Given the description of an element on the screen output the (x, y) to click on. 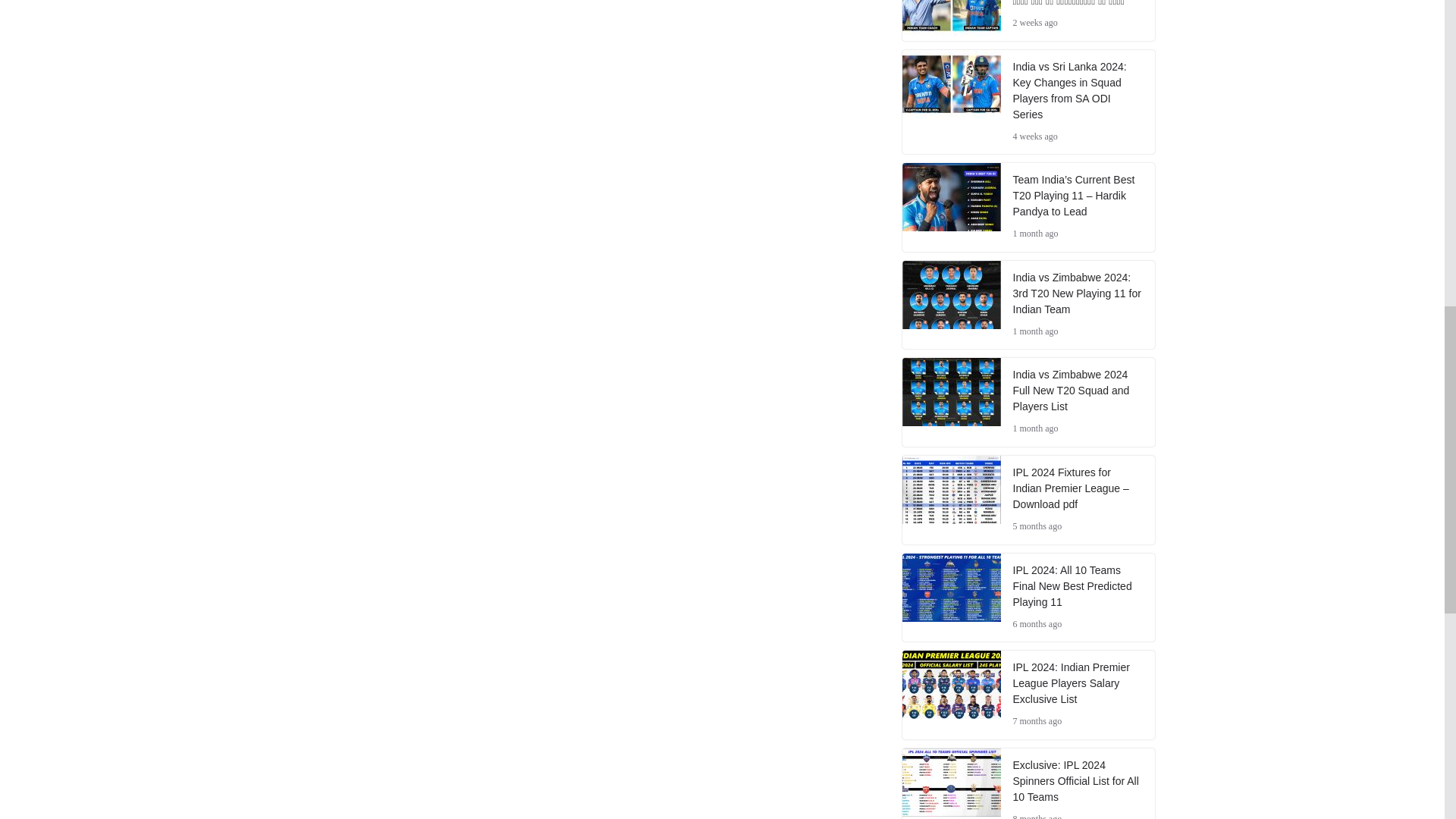
India vs Zimbabwe 2024 Full New T20 Squad and Players List (1077, 390)
